Given the description of an element on the screen output the (x, y) to click on. 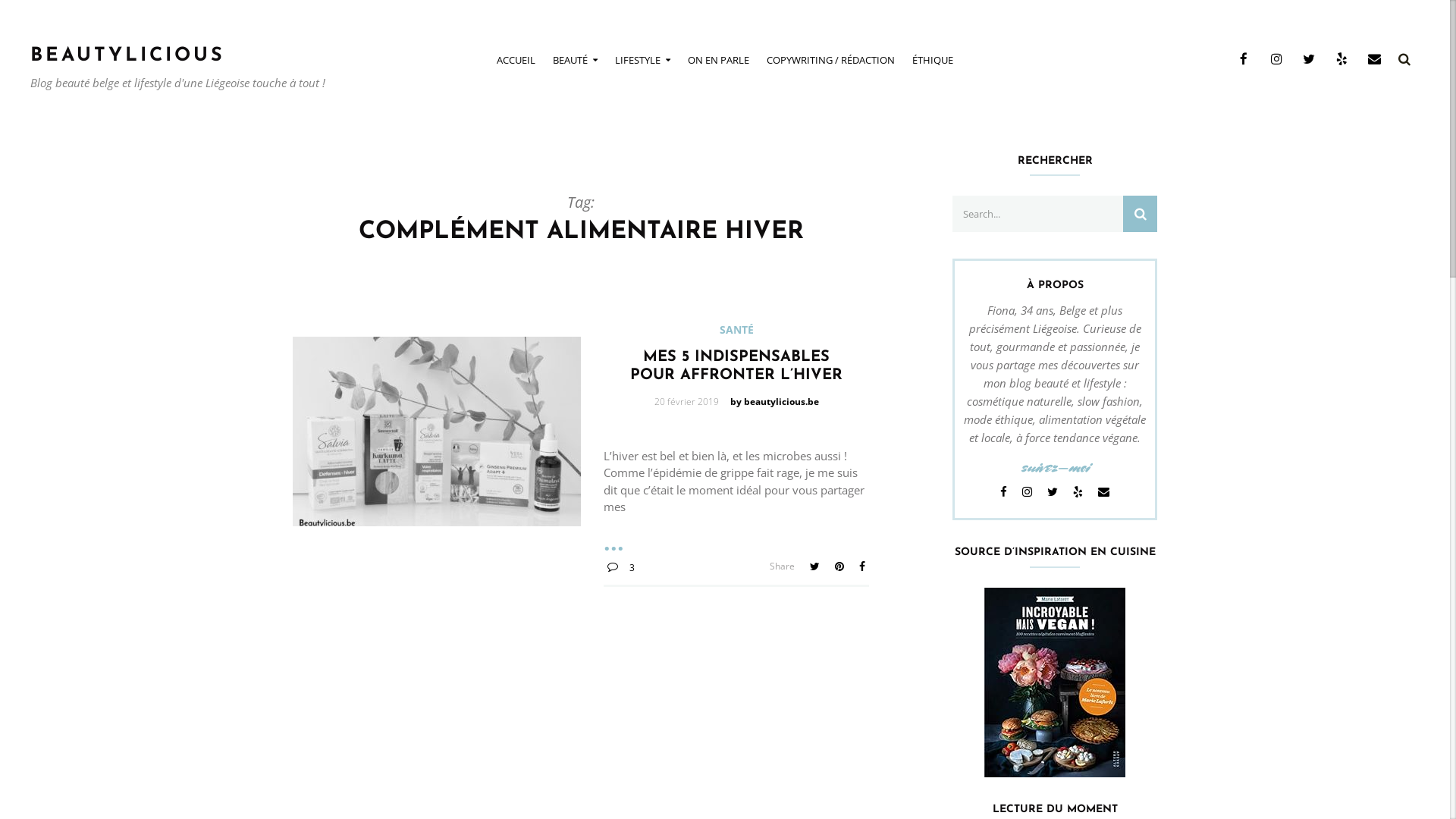
LIFESTYLE Element type: text (642, 60)
SEARCH Element type: text (1140, 213)
ON EN PARLE Element type: text (718, 60)
BEAUTYLICIOUS Element type: text (127, 55)
Search for: Element type: hover (1054, 213)
by beautylicious.be Element type: text (774, 401)
3 Element type: text (620, 567)
ACCUEIL Element type: text (515, 60)
